Given the description of an element on the screen output the (x, y) to click on. 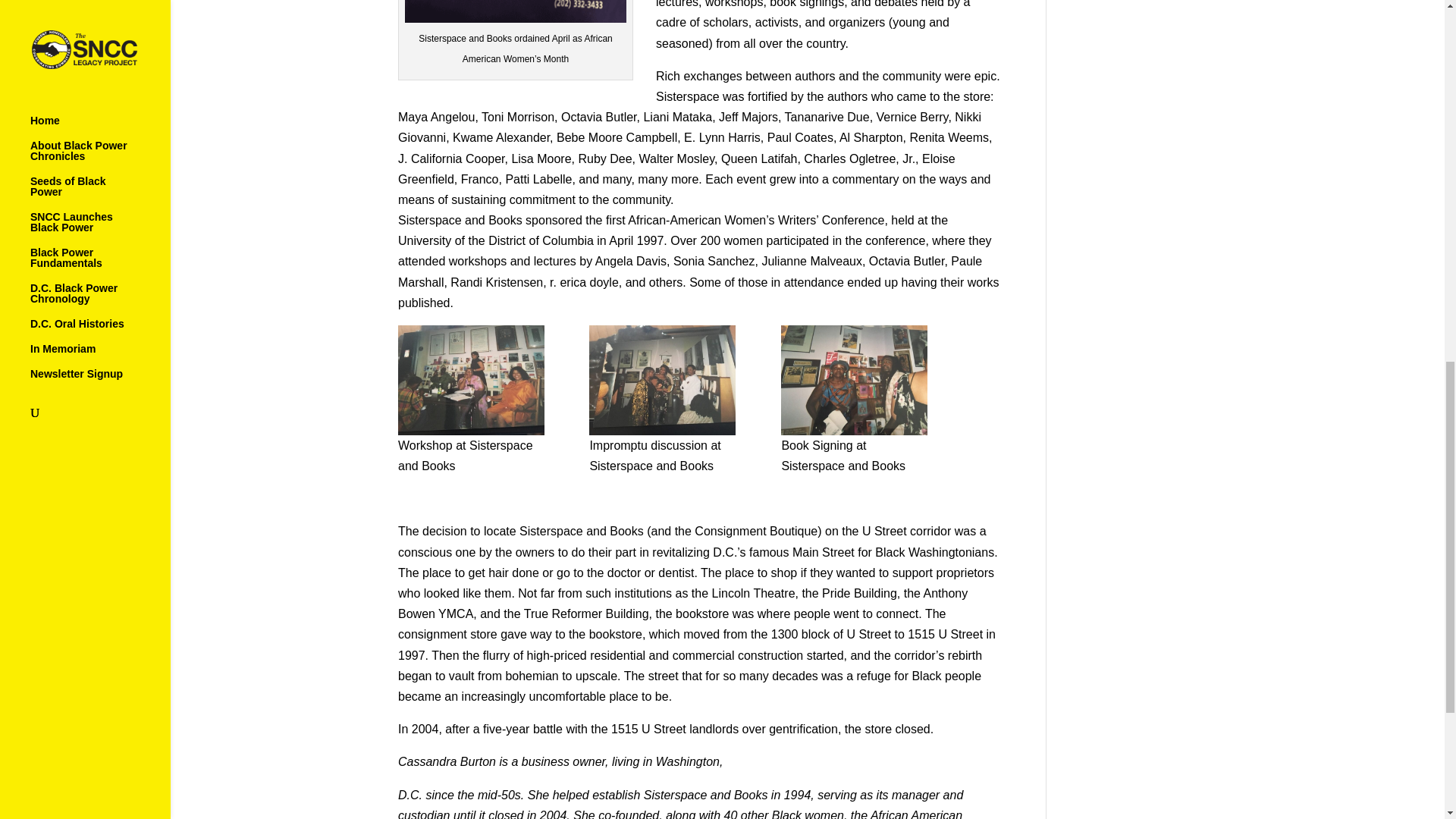
Book Signing at Sisterspace and Books (853, 379)
Impromptu discussion at Sisterspace and Books (662, 379)
Workshop at Sisterspace and Books (470, 379)
